Given the description of an element on the screen output the (x, y) to click on. 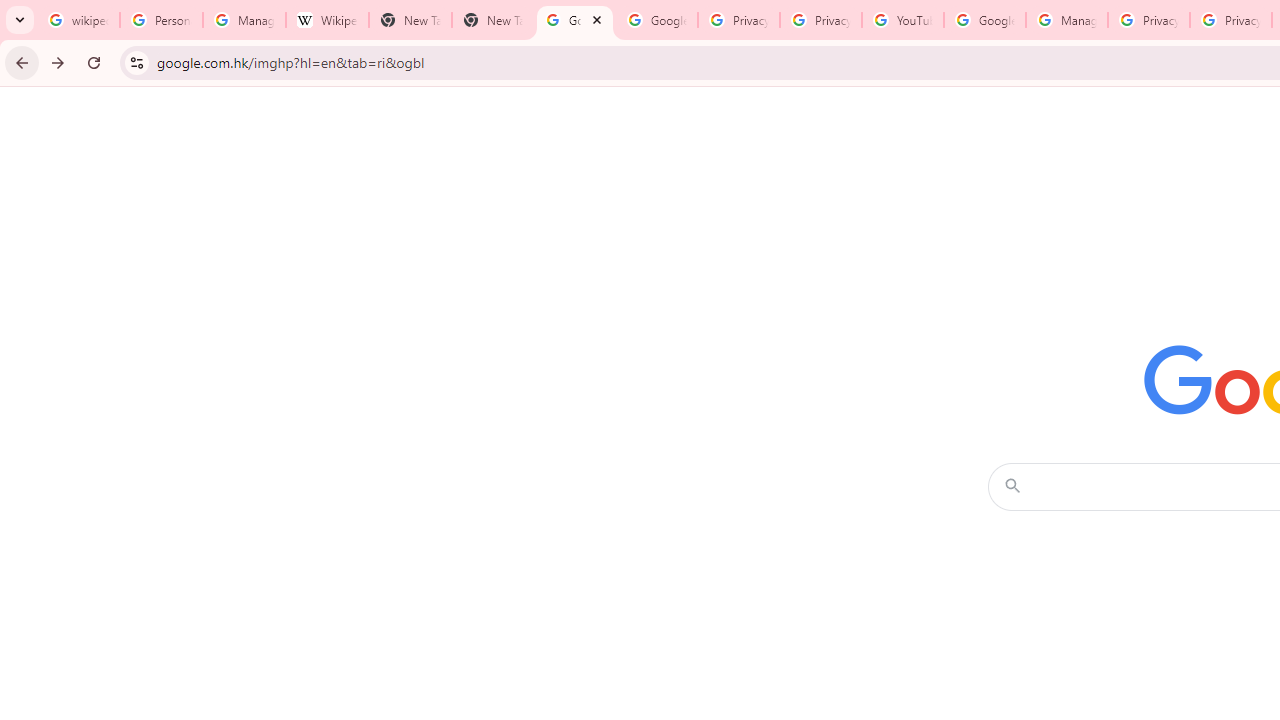
Personalization & Google Search results - Google Search Help (161, 20)
Google Account Help (984, 20)
New Tab (492, 20)
Wikipedia:Edit requests - Wikipedia (326, 20)
